Given the description of an element on the screen output the (x, y) to click on. 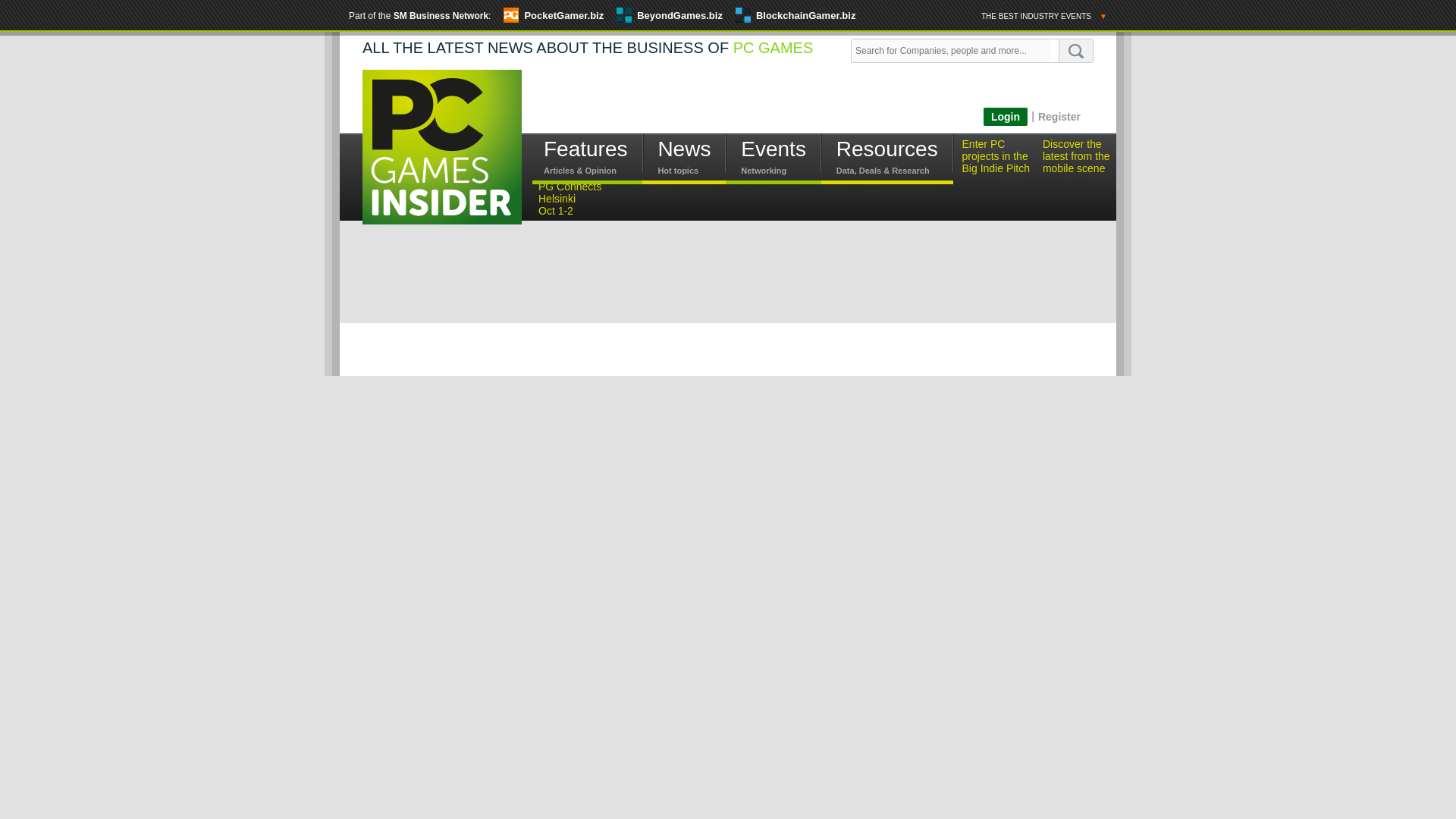
PC Games Insider (441, 159)
Login (1005, 116)
Register (1059, 116)
PC Games Insider (441, 146)
3rd party ad content (808, 103)
